Given the description of an element on the screen output the (x, y) to click on. 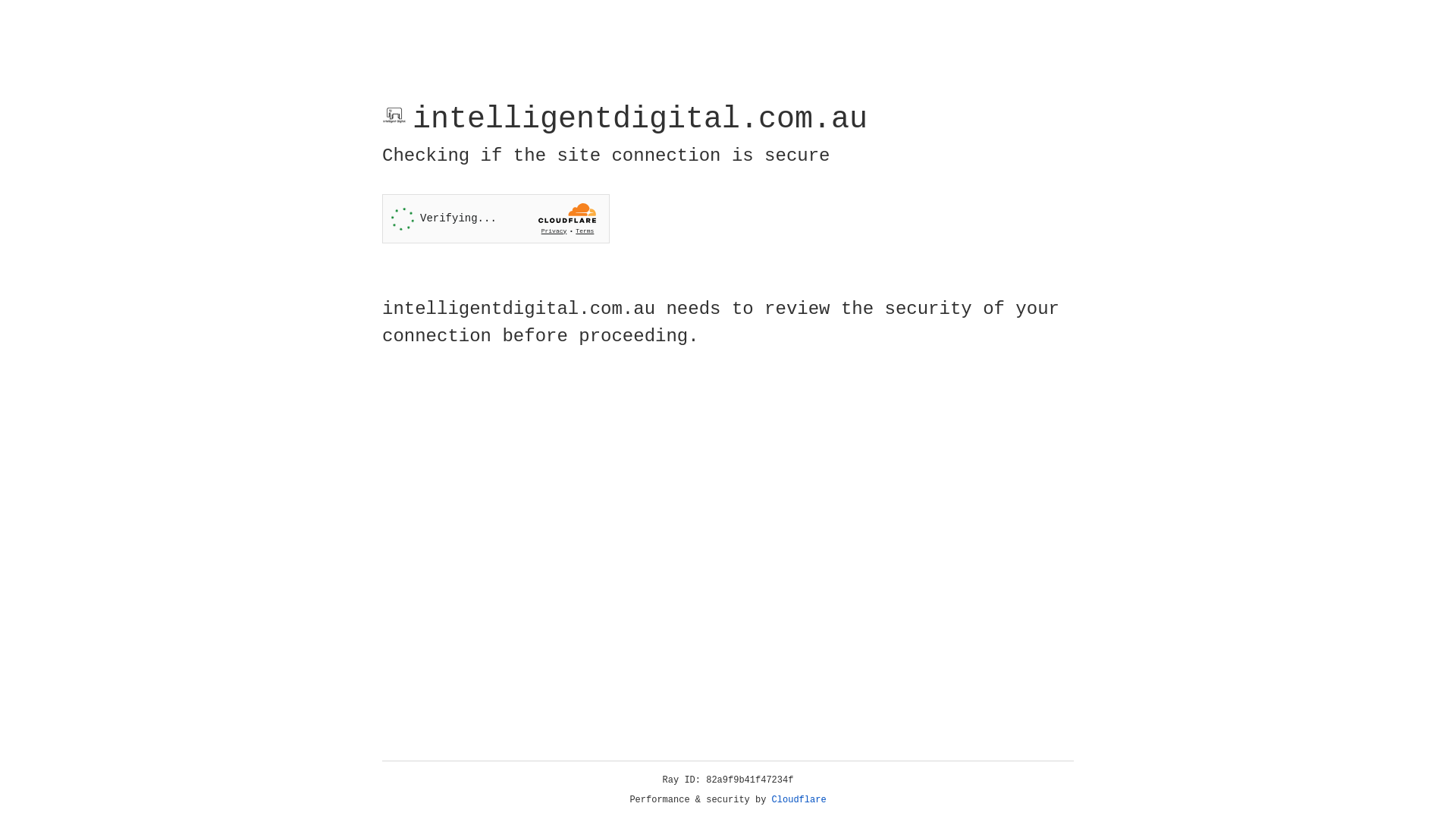
Widget containing a Cloudflare security challenge Element type: hover (495, 218)
Cloudflare Element type: text (798, 799)
